Given the description of an element on the screen output the (x, y) to click on. 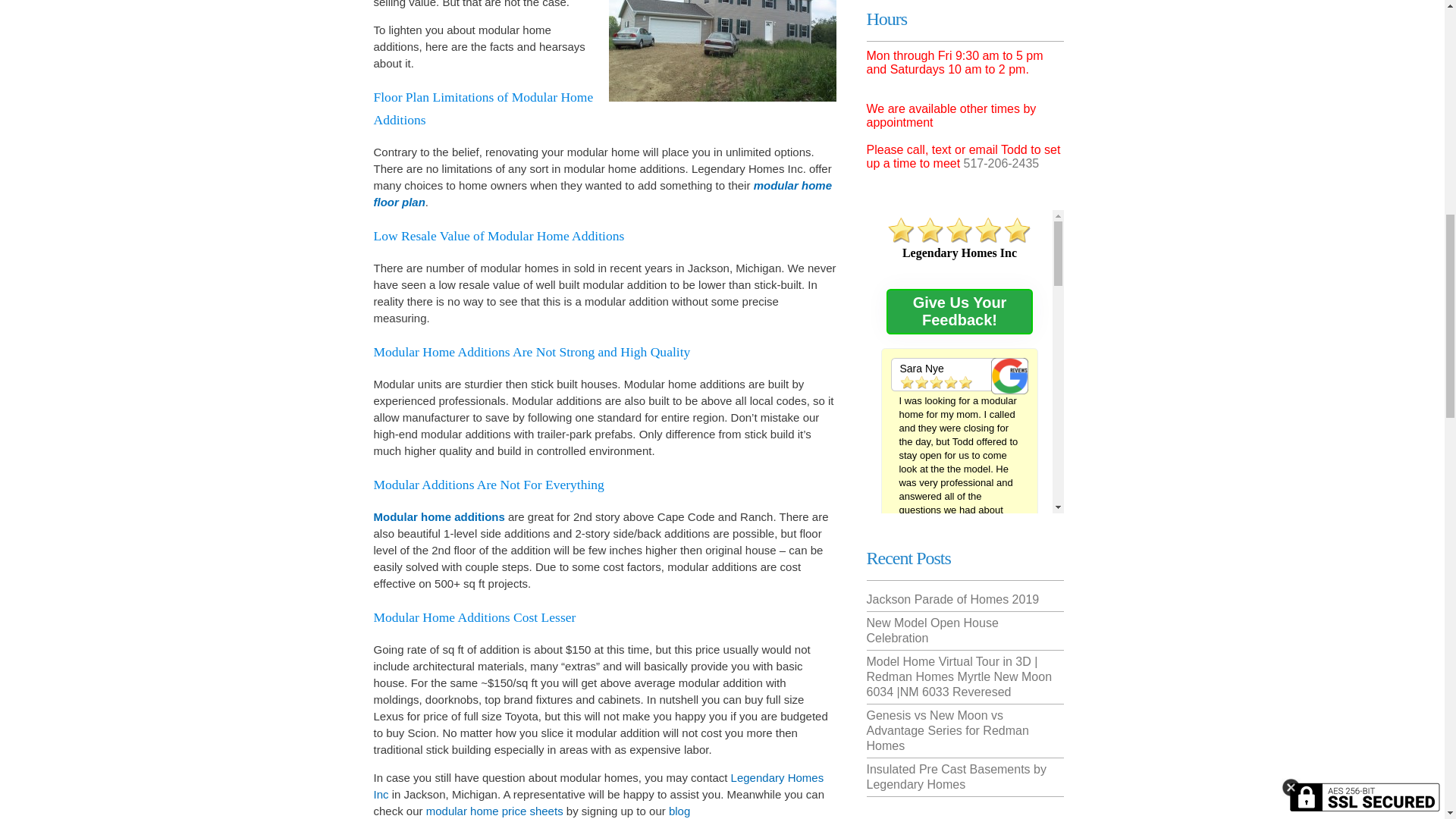
modular home floor plan (601, 193)
Modular home additions (440, 516)
Legendary Homes Inc (598, 785)
